Given the description of an element on the screen output the (x, y) to click on. 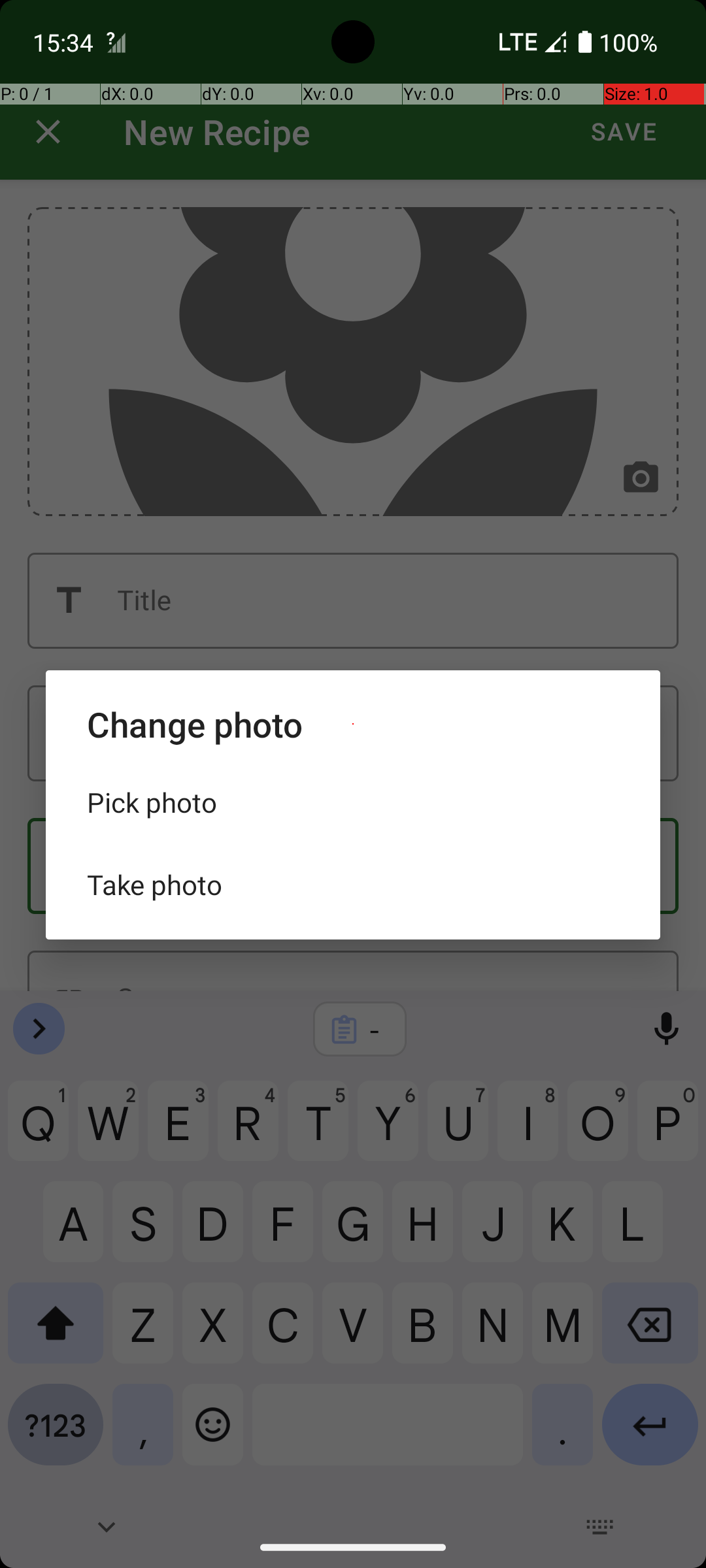
Pick photo Element type: android.widget.TextView (352, 802)
Take photo Element type: android.widget.TextView (352, 884)
